Given the description of an element on the screen output the (x, y) to click on. 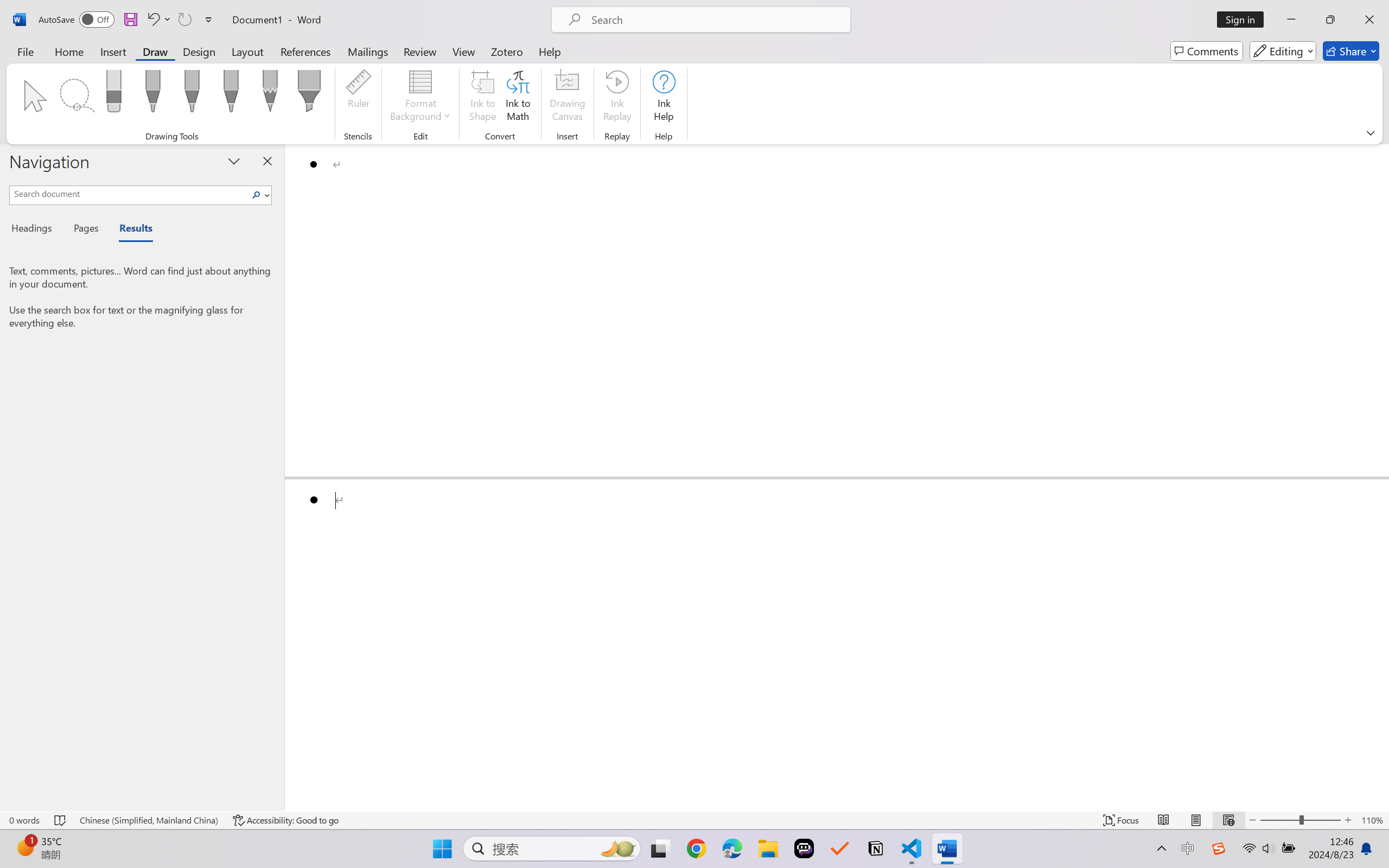
Highlighter: Yellow, 6 mm (309, 94)
Pen: Black, 0.5 mm (152, 94)
Ink to Shape (483, 97)
Undo Bullet Default (158, 19)
